Given the description of an element on the screen output the (x, y) to click on. 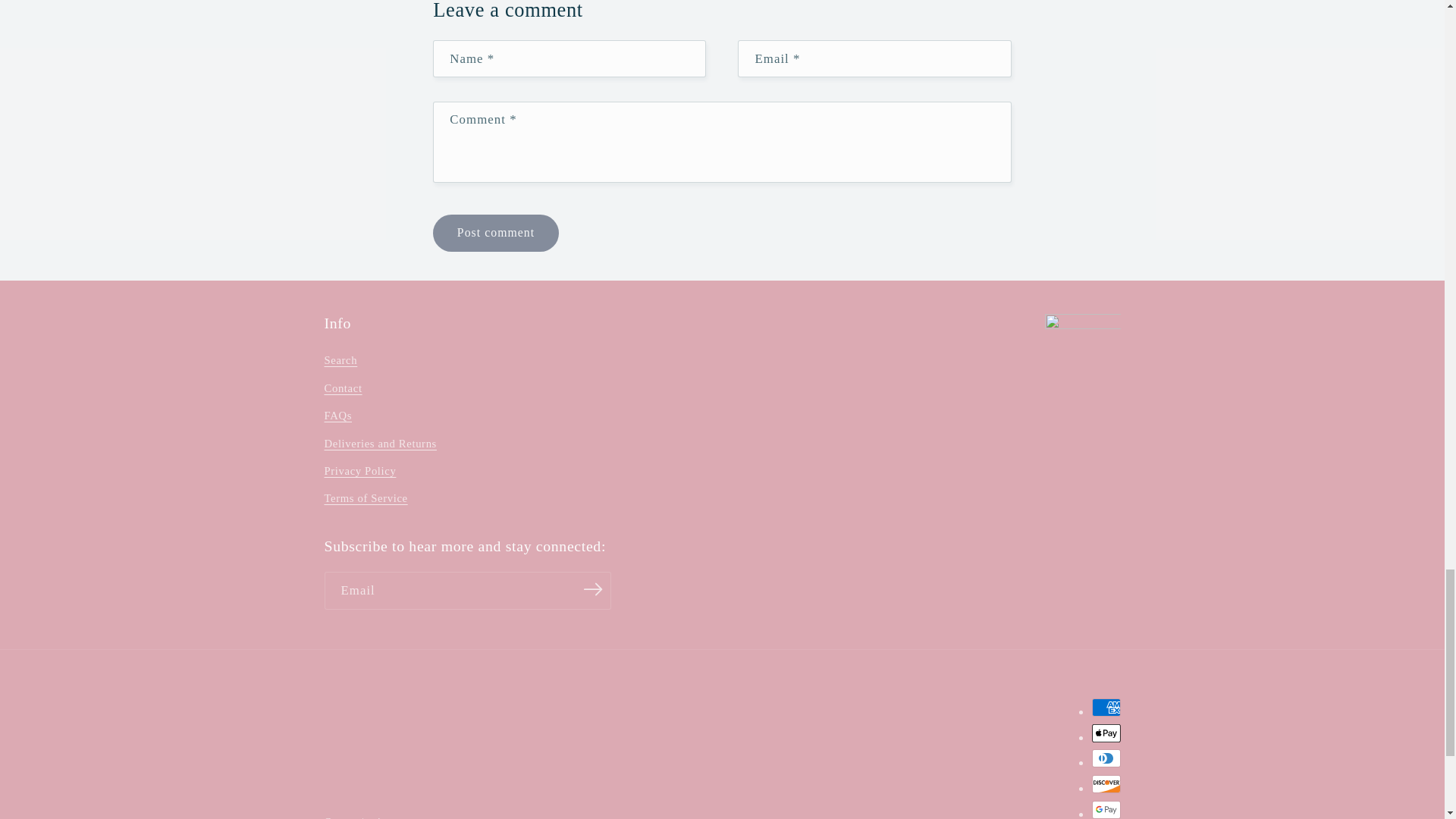
American Express (1106, 707)
Google Pay (1106, 809)
Post comment (494, 232)
Diners Club (1106, 758)
Apple Pay (1106, 732)
Discover (1106, 783)
